Given the description of an element on the screen output the (x, y) to click on. 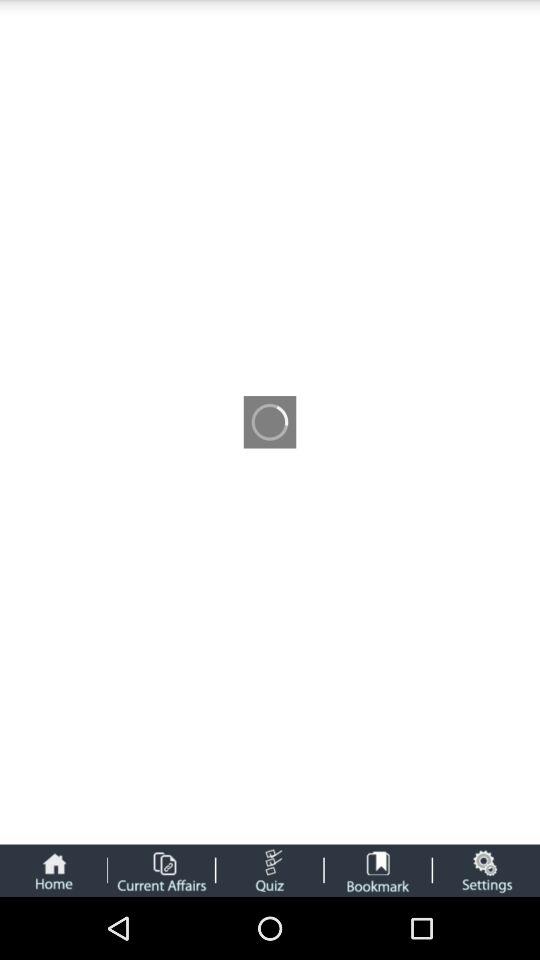
quiz (269, 870)
